Given the description of an element on the screen output the (x, y) to click on. 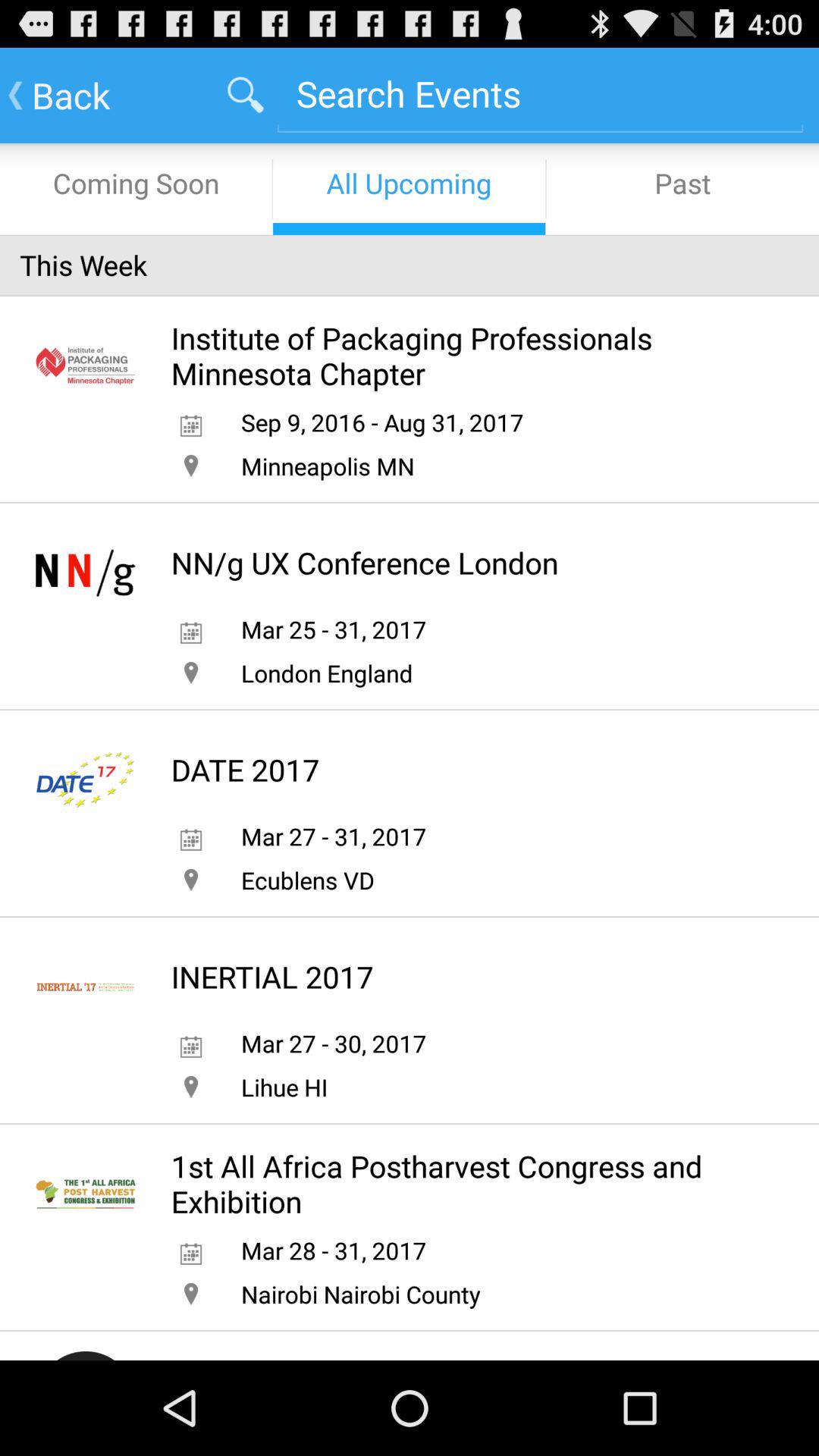
scroll to london england icon (326, 672)
